Given the description of an element on the screen output the (x, y) to click on. 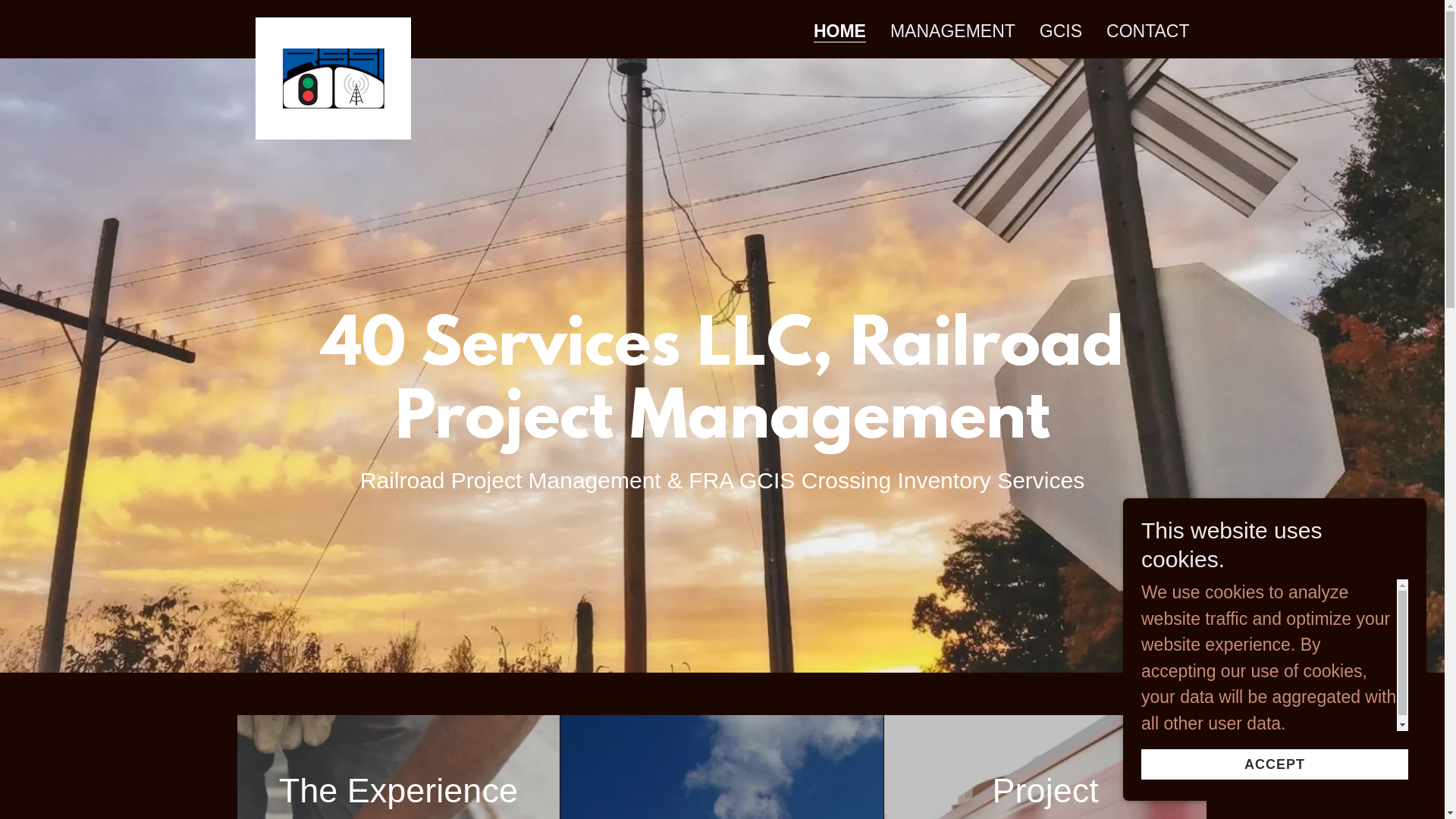
GCIS Element type: text (1060, 30)
40 Services LLC Element type: hover (332, 25)
MANAGEMENT Element type: text (952, 30)
CONTACT Element type: text (1147, 30)
HOME Element type: text (839, 31)
ACCEPT Element type: text (1274, 764)
